Given the description of an element on the screen output the (x, y) to click on. 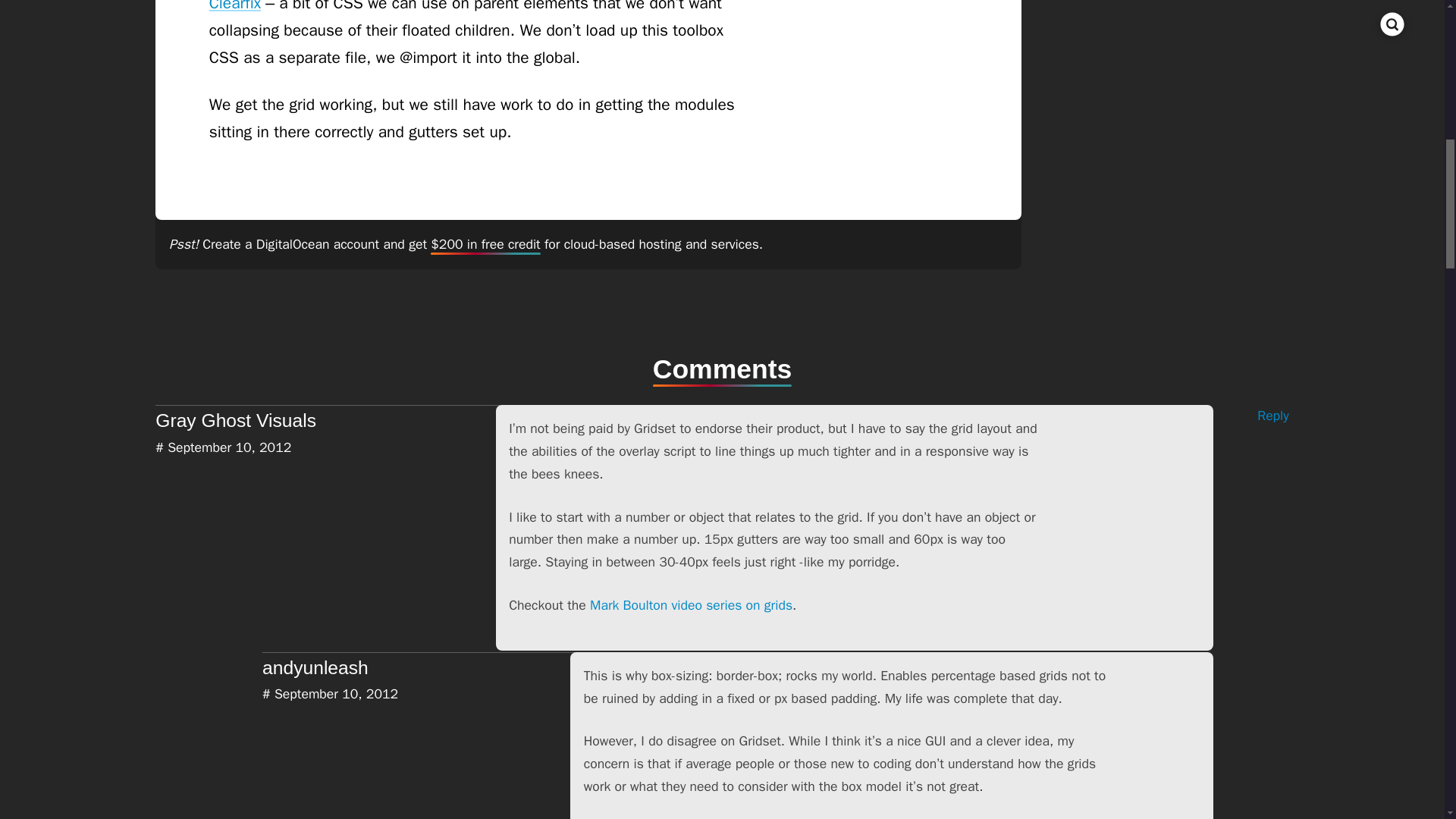
Mark Boulton video series on grids (690, 605)
Reply (1250, 415)
Clearfix (234, 6)
